Given the description of an element on the screen output the (x, y) to click on. 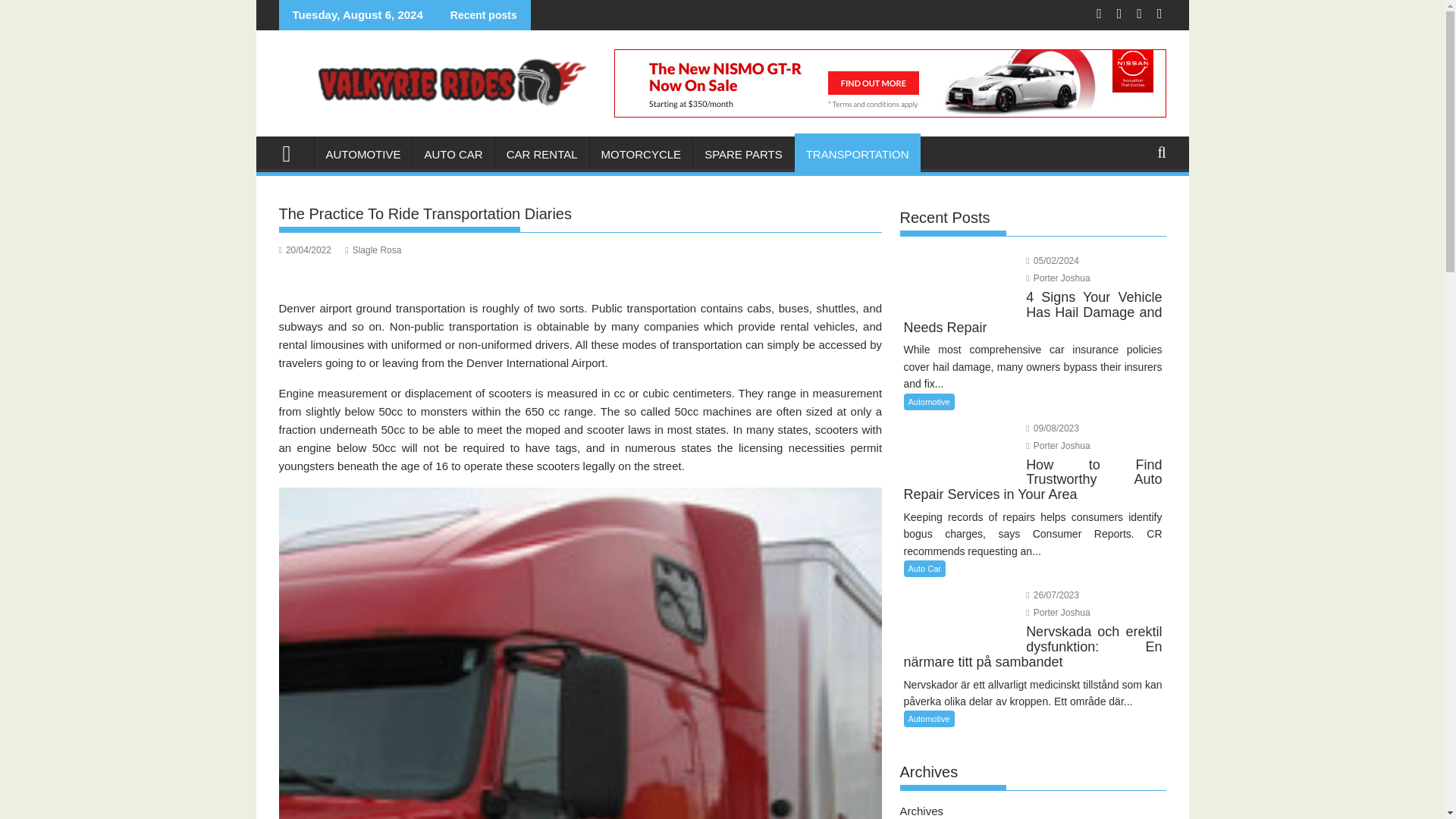
AUTO CAR (452, 154)
SPARE PARTS (743, 154)
TRANSPORTATION (857, 154)
Valkyrie Rides (293, 151)
AUTOMOTIVE (363, 154)
MOTORCYCLE (641, 154)
Slagle Rosa (373, 249)
CAR RENTAL (542, 154)
